Given the description of an element on the screen output the (x, y) to click on. 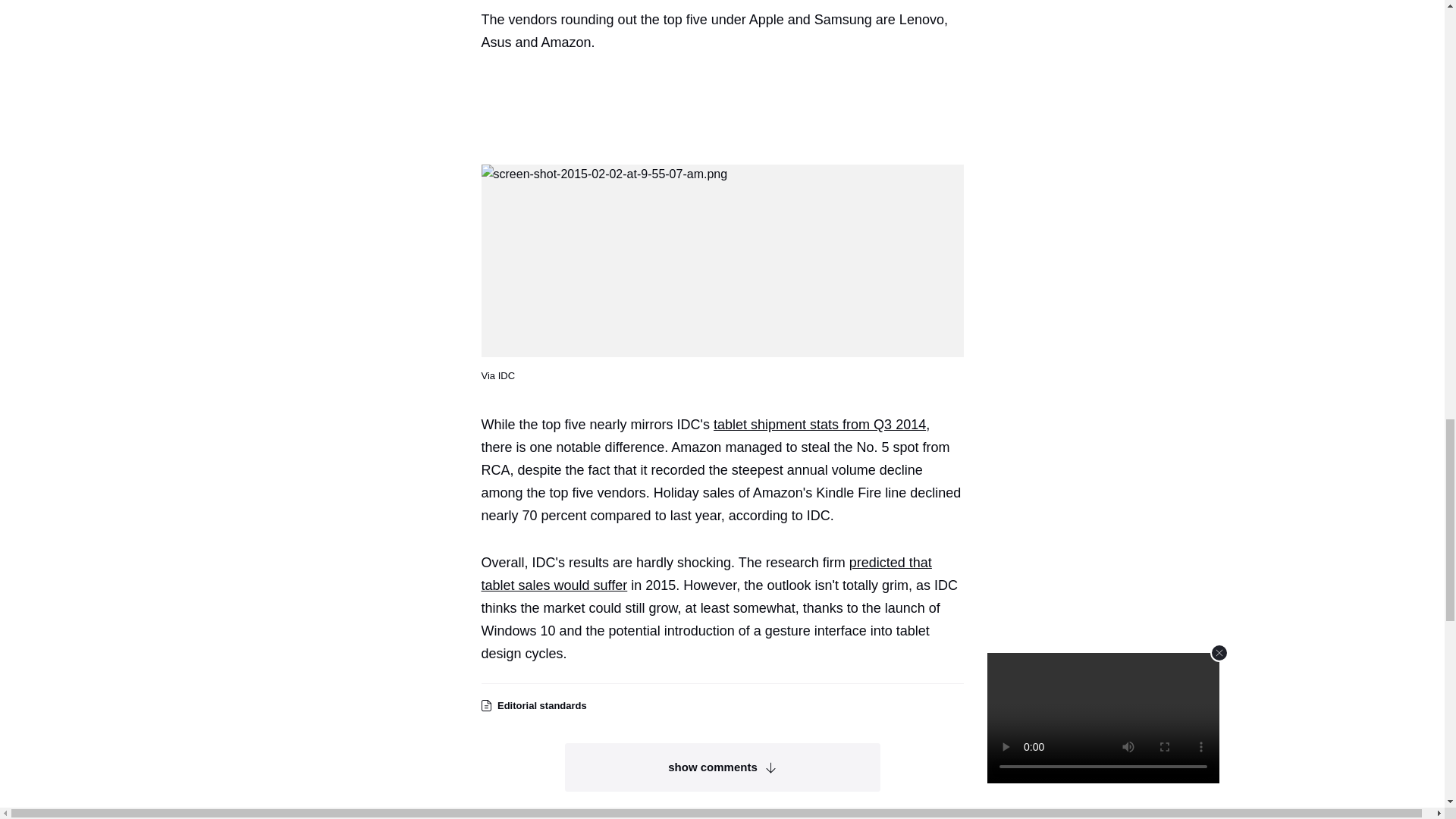
3rd party ad content (727, 106)
